Given the description of an element on the screen output the (x, y) to click on. 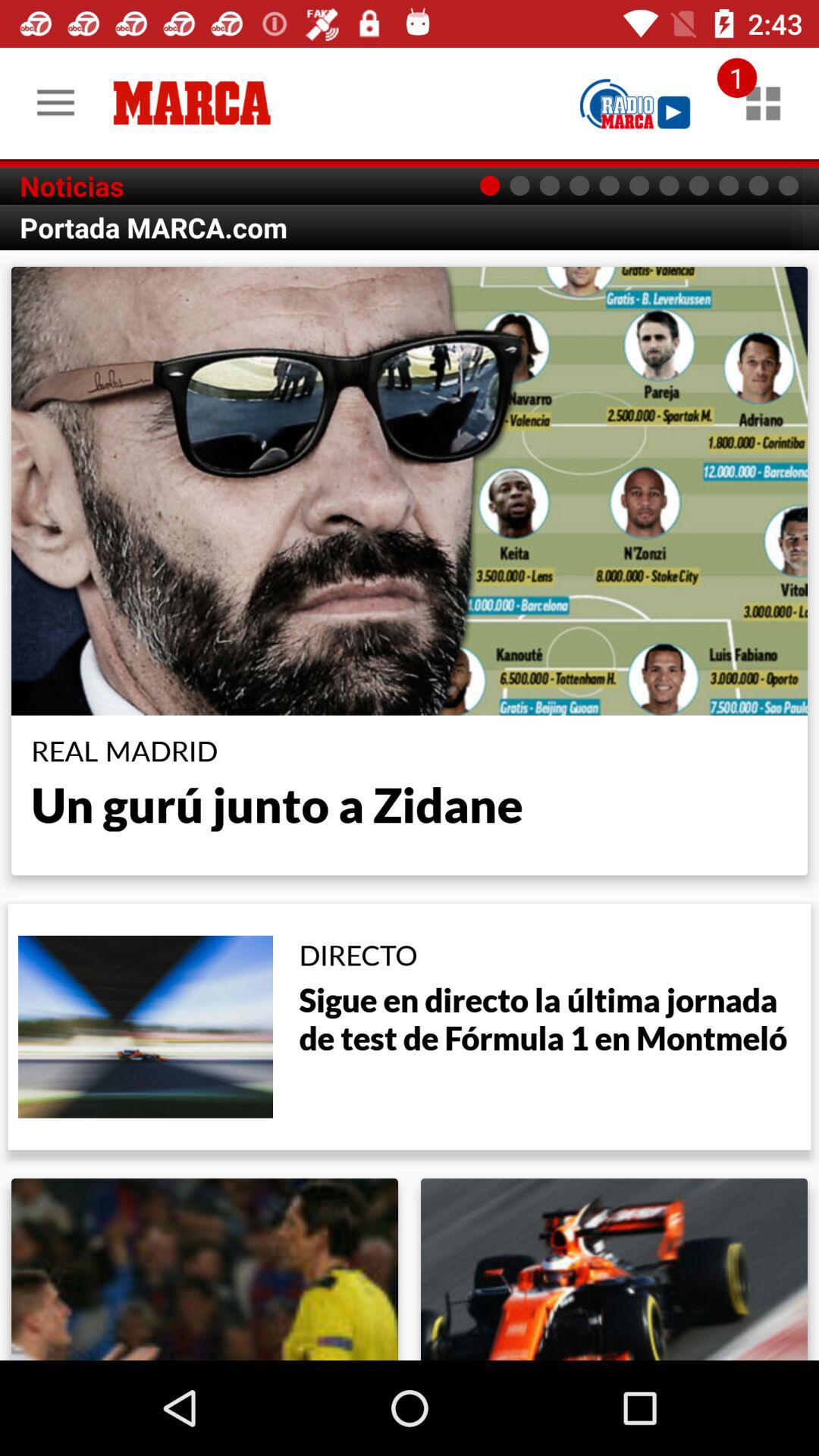
choose item next to noticias item (635, 103)
